Given the description of an element on the screen output the (x, y) to click on. 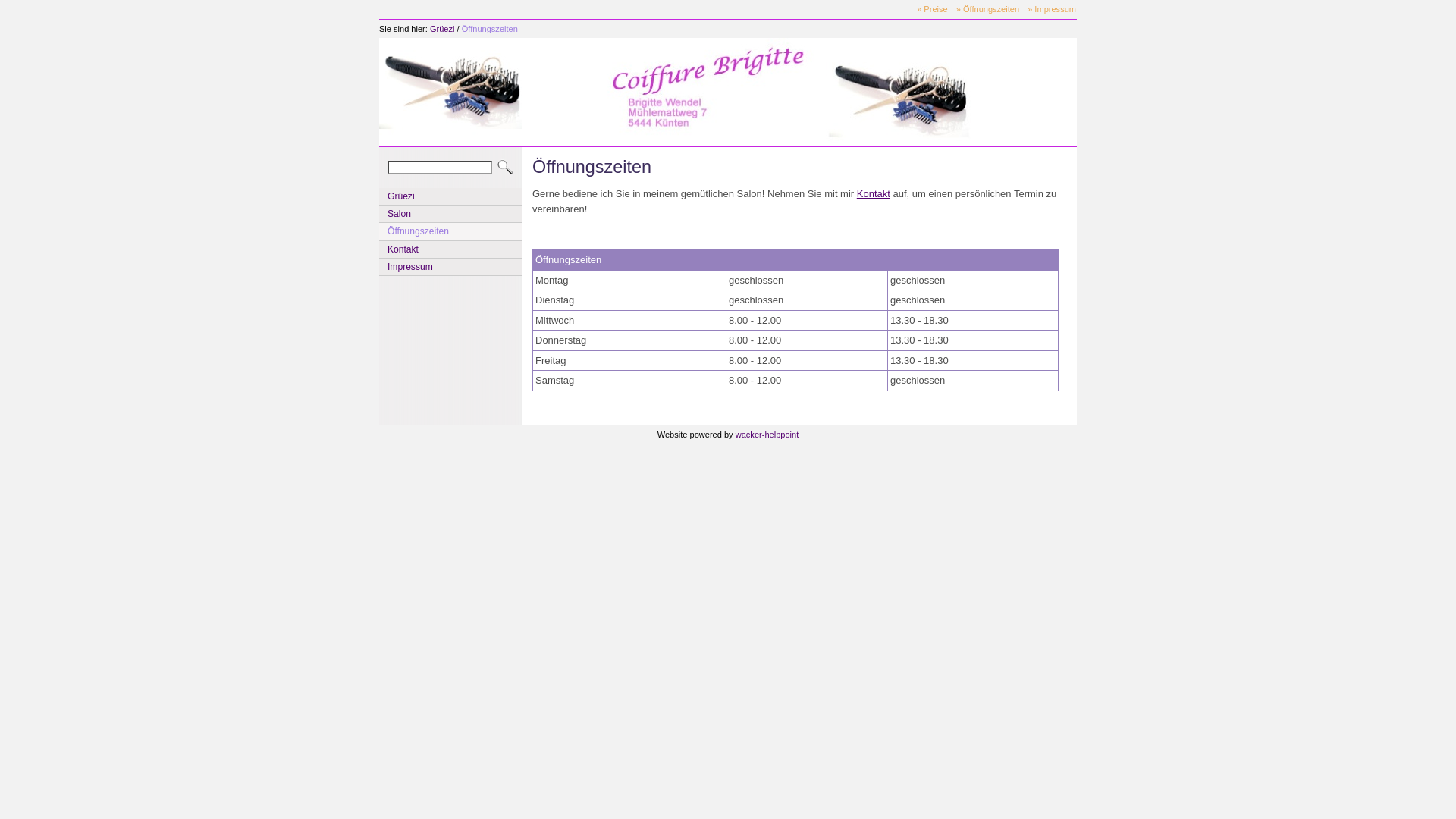
Kontakt Element type: text (450, 249)
wacker-helppoint Element type: text (767, 434)
coiffure brigitte Element type: hover (450, 90)
Salon Element type: text (450, 213)
Kontakt Element type: text (873, 193)
Impressum Element type: text (450, 266)
